Given the description of an element on the screen output the (x, y) to click on. 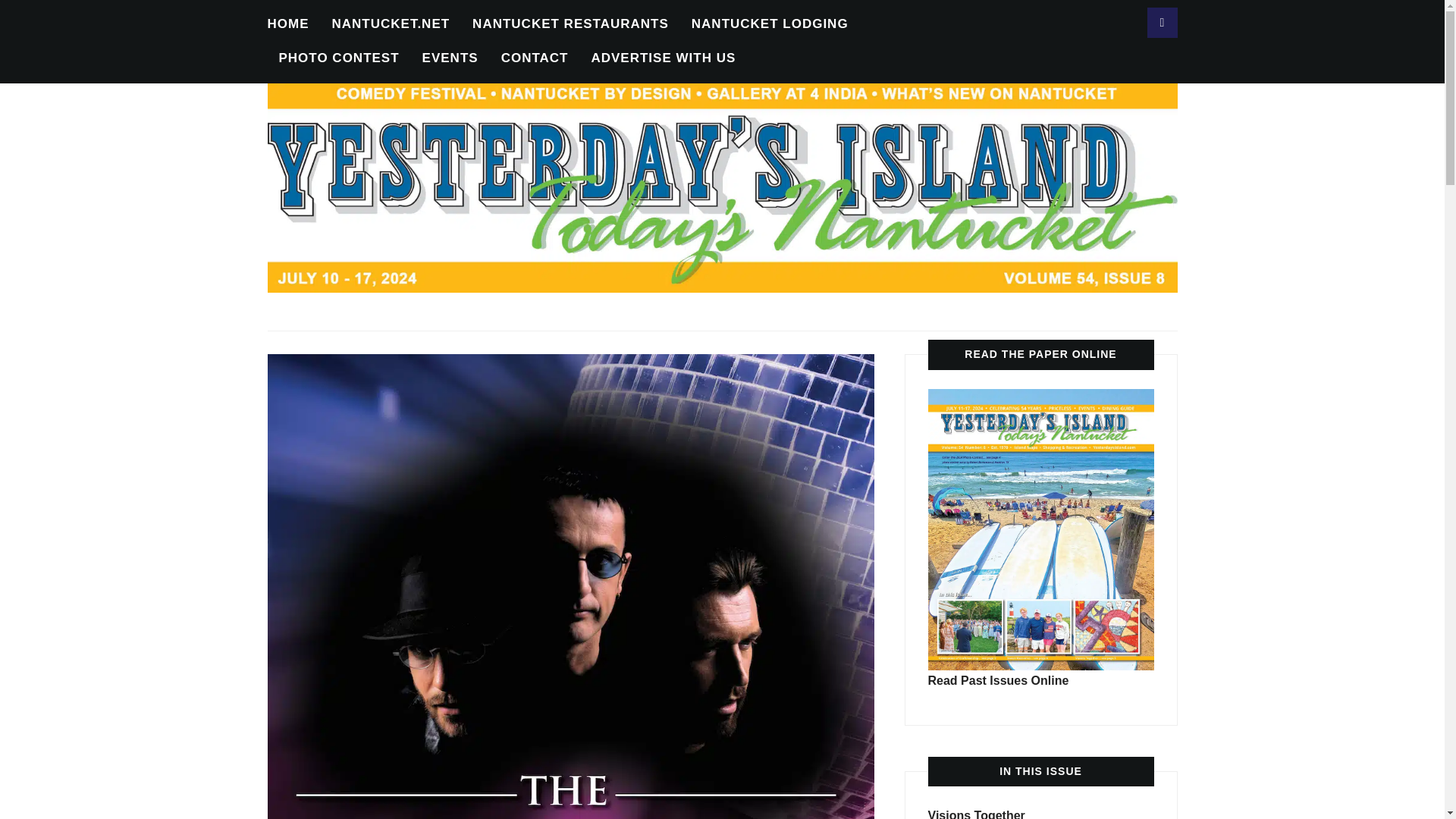
EVENTS (450, 58)
CONTACT (534, 58)
NANTUCKET.NET (390, 24)
PHOTO CONTEST (338, 58)
NANTUCKET RESTAURANTS (569, 24)
HOME (287, 24)
Search (1161, 22)
ADVERTISE WITH US (663, 58)
NANTUCKET LODGING (769, 24)
